Given the description of an element on the screen output the (x, y) to click on. 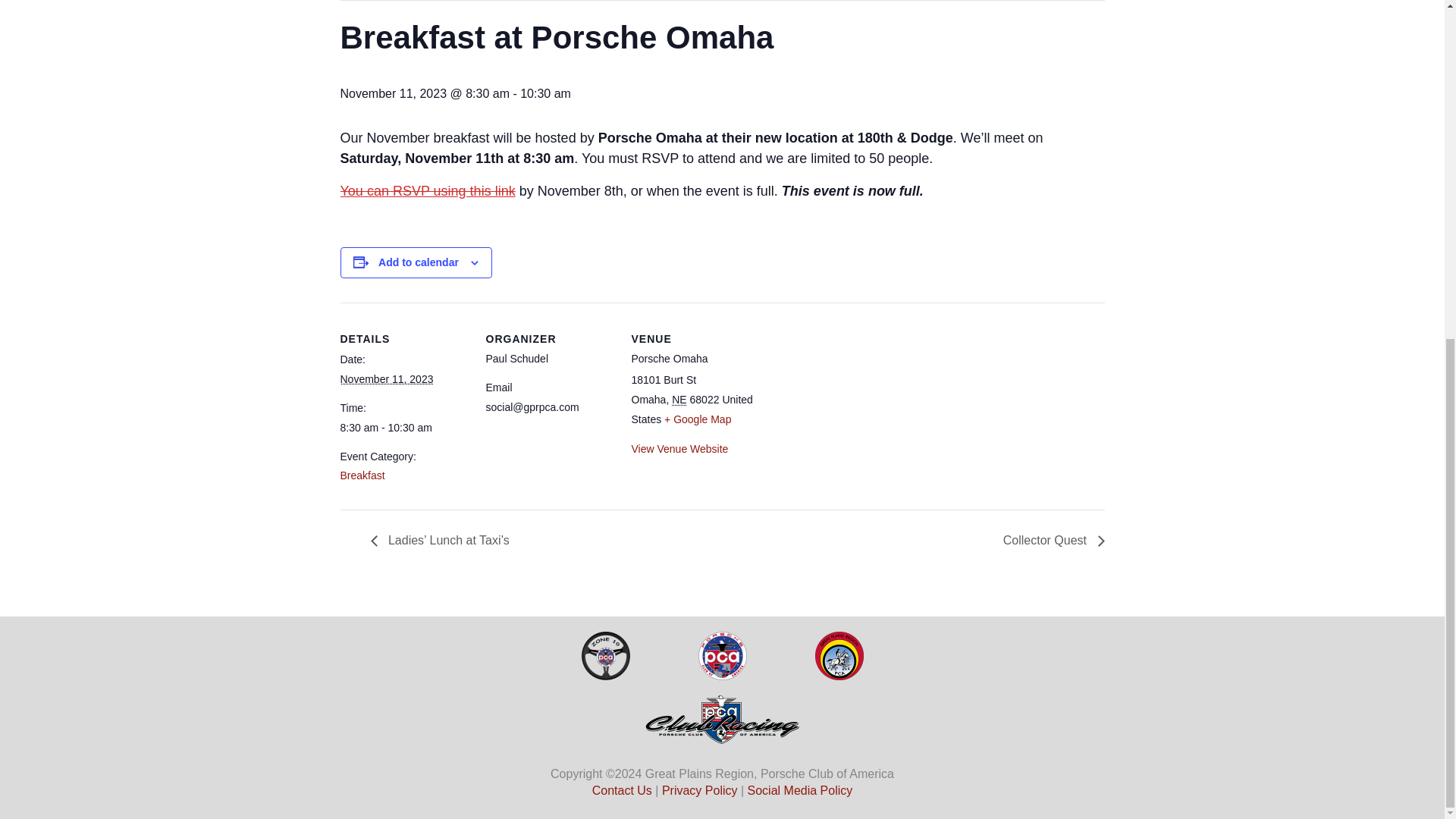
2023-11-11 (385, 378)
Nebraska (678, 399)
clubRacingLogoFooter (722, 719)
Transparent-background (604, 655)
Google maps iframe displaying the address to Porsche Omaha (856, 406)
2023-11-11 (403, 427)
Click to view a Google Map (696, 419)
PCALogoFooter (721, 655)
GPRLogoFooter (838, 655)
